Given the description of an element on the screen output the (x, y) to click on. 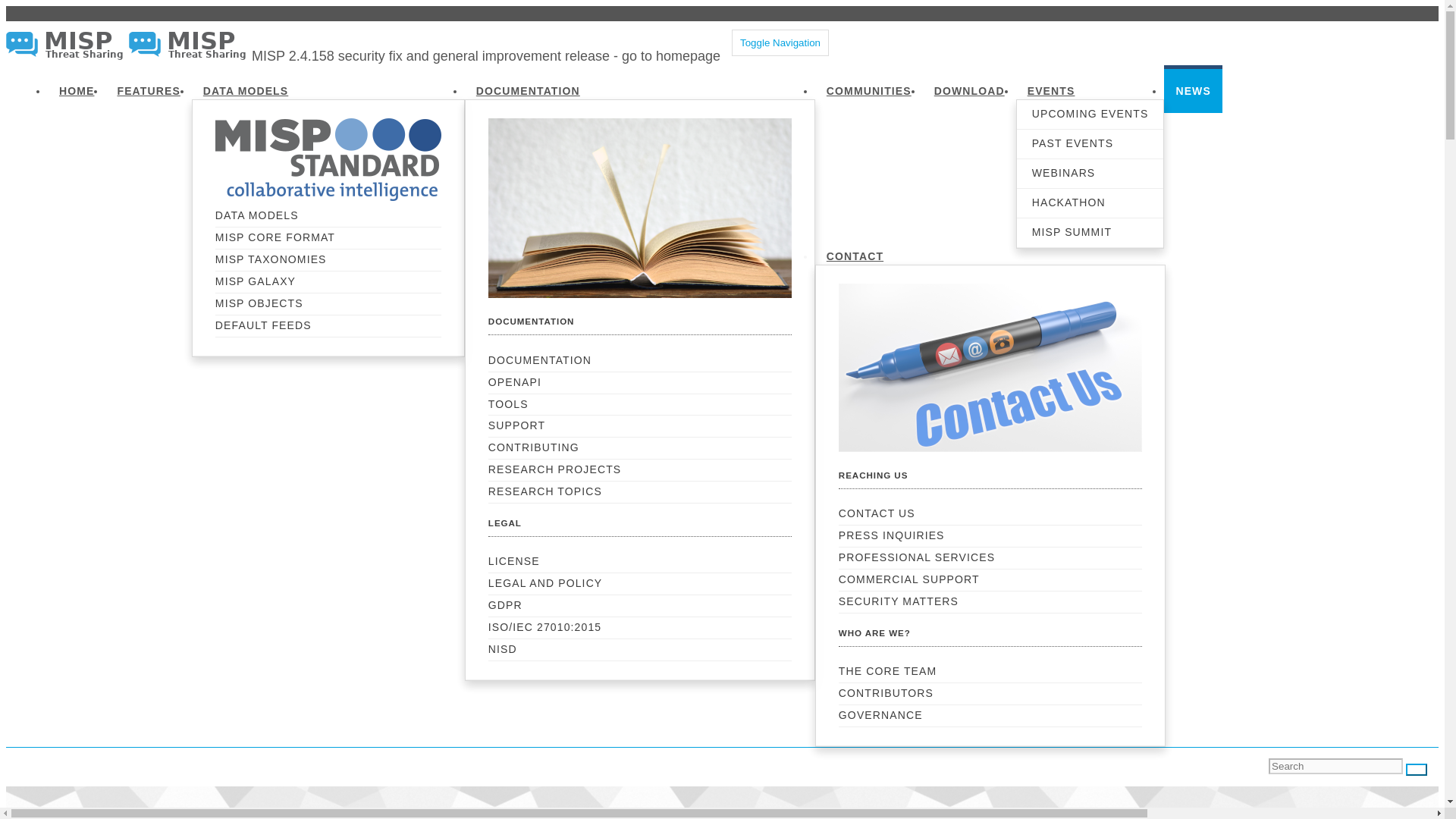
OPENAPI (639, 382)
CONTACT (855, 254)
DATA MODELS (245, 89)
UPCOMING EVENTS (1089, 114)
TOOLS (639, 404)
MISP TAXONOMIES (328, 259)
EVENTS (1051, 89)
NEWS (1192, 89)
DOCUMENTATION (527, 89)
MISP SUMMIT (1089, 232)
WEBINARS (1089, 173)
Toggle Navigation (780, 42)
PAST EVENTS (1089, 143)
DATA MODELS (328, 215)
